Given the description of an element on the screen output the (x, y) to click on. 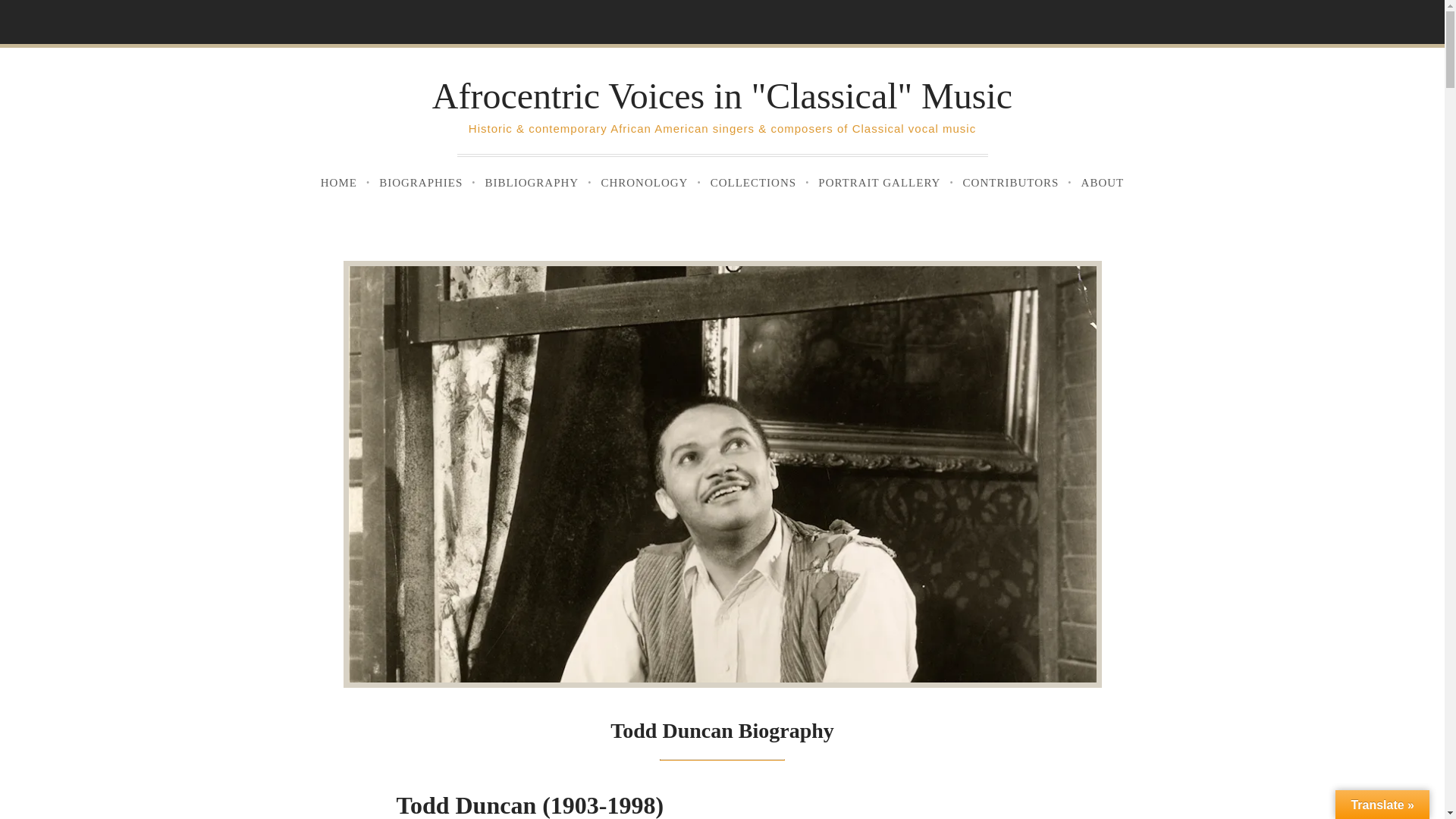
Afrocentric Voices in "Classical" Music (721, 96)
HOME (338, 182)
CHRONOLOGY (644, 182)
BIOGRAPHIES (420, 182)
COLLECTIONS (753, 182)
CONTRIBUTORS (1011, 182)
PORTRAIT GALLERY (878, 182)
BIBLIOGRAPHY (532, 182)
ABOUT (1102, 182)
